Given the description of an element on the screen output the (x, y) to click on. 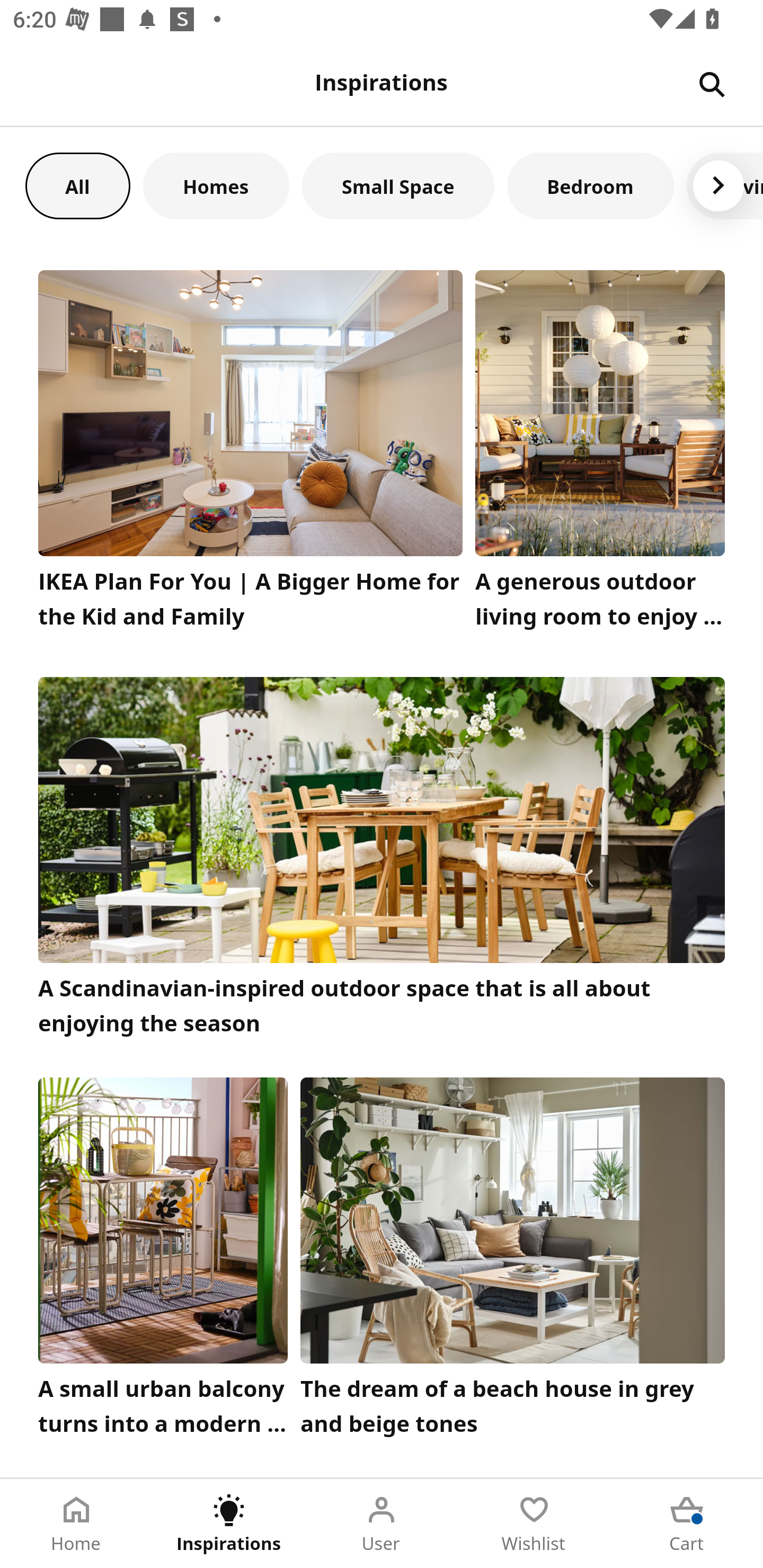
All (77, 185)
Homes (216, 185)
Small Space (398, 185)
Bedroom (590, 185)
The dream of a beach house in grey and beige tones (512, 1261)
Home
Tab 1 of 5 (76, 1522)
Inspirations
Tab 2 of 5 (228, 1522)
User
Tab 3 of 5 (381, 1522)
Wishlist
Tab 4 of 5 (533, 1522)
Cart
Tab 5 of 5 (686, 1522)
